Given the description of an element on the screen output the (x, y) to click on. 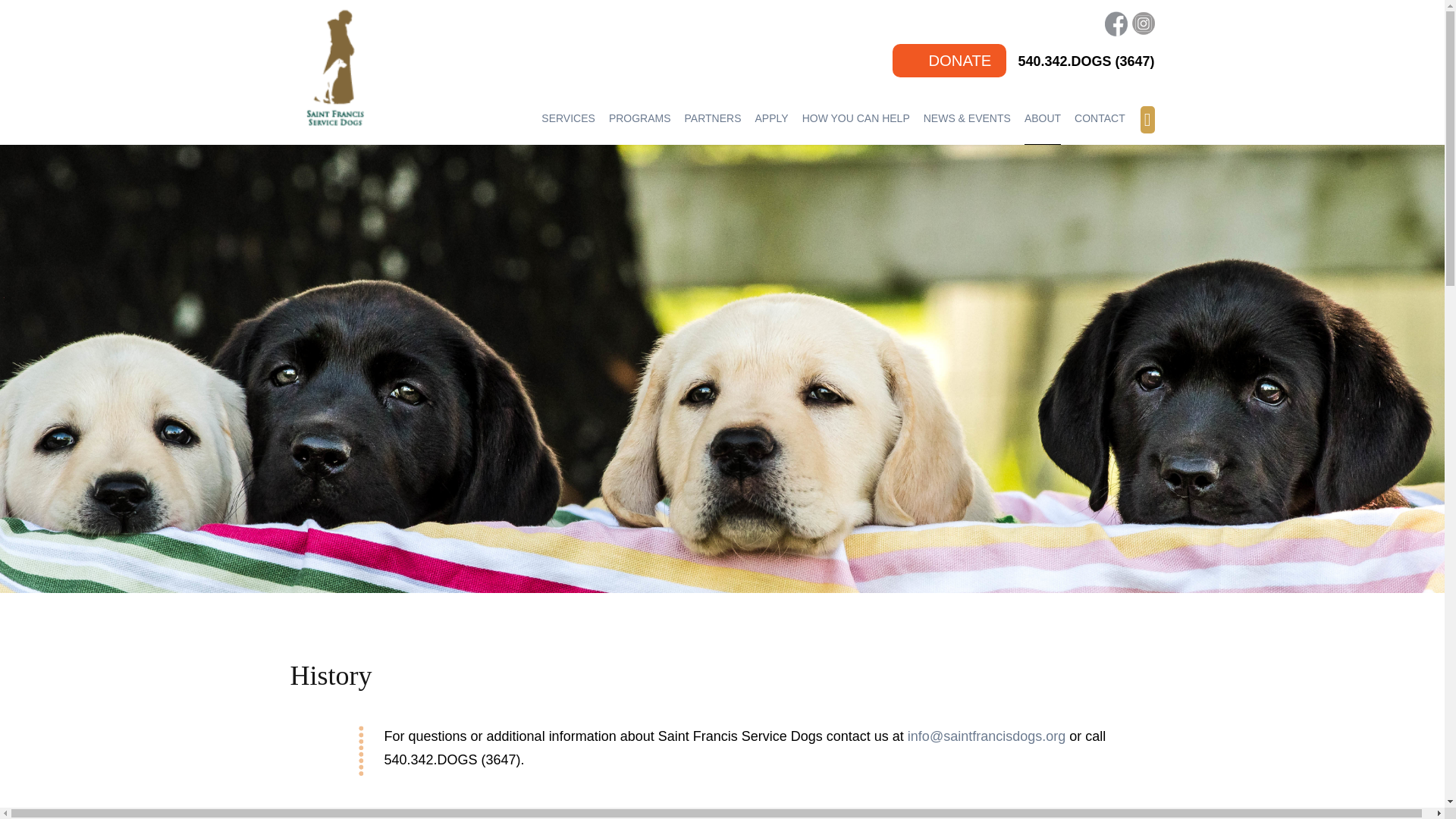
PARTNERS (712, 118)
SERVICES (568, 118)
DONATE (949, 60)
PROGRAMS (639, 118)
instagram (1142, 22)
facebook (1115, 22)
send message (1099, 118)
donate (949, 60)
HOW YOU CAN HELP (856, 118)
